Given the description of an element on the screen output the (x, y) to click on. 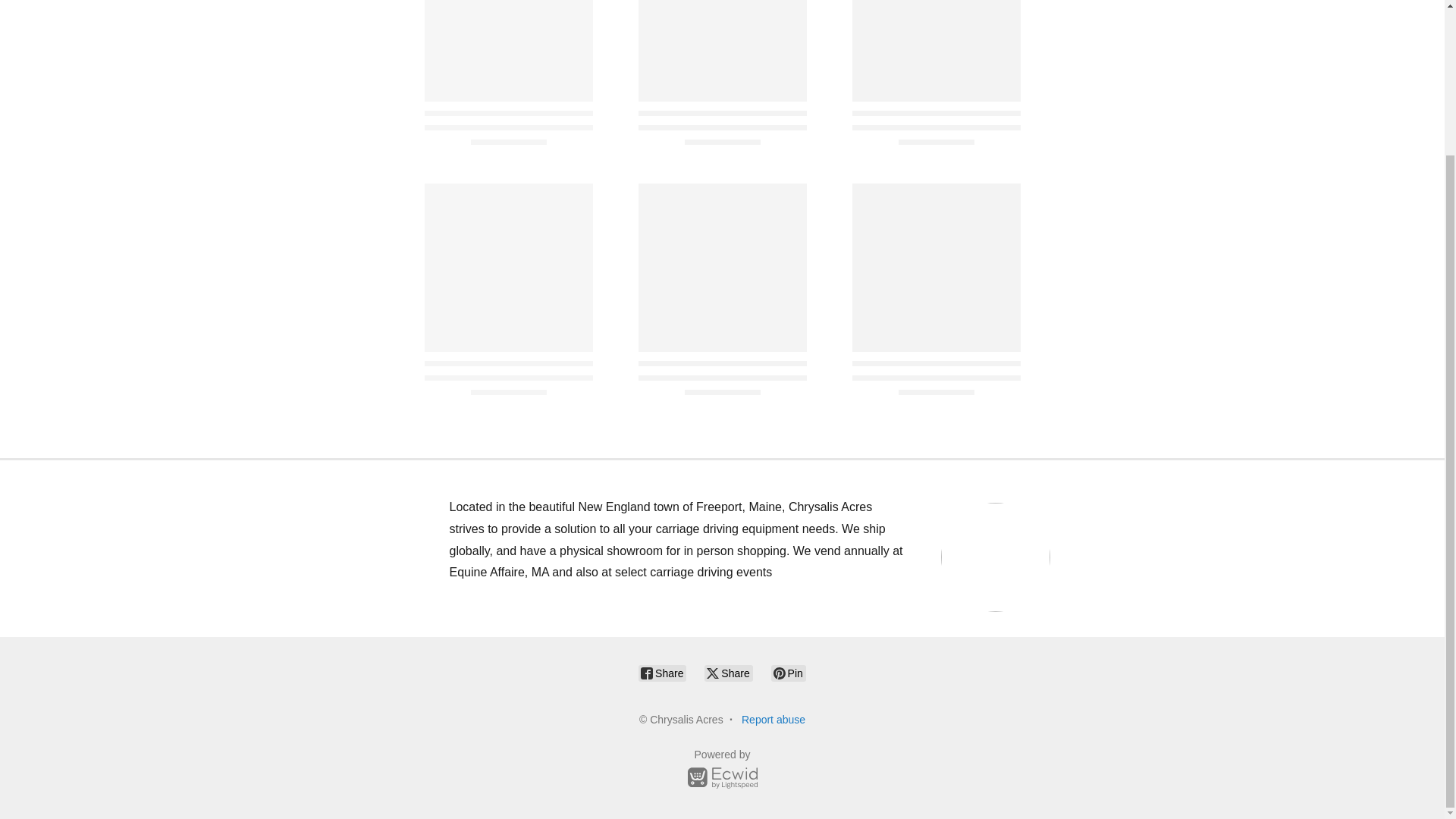
Share (662, 673)
Pin (788, 673)
Report abuse (773, 719)
Share (728, 673)
Powered by (722, 771)
